Given the description of an element on the screen output the (x, y) to click on. 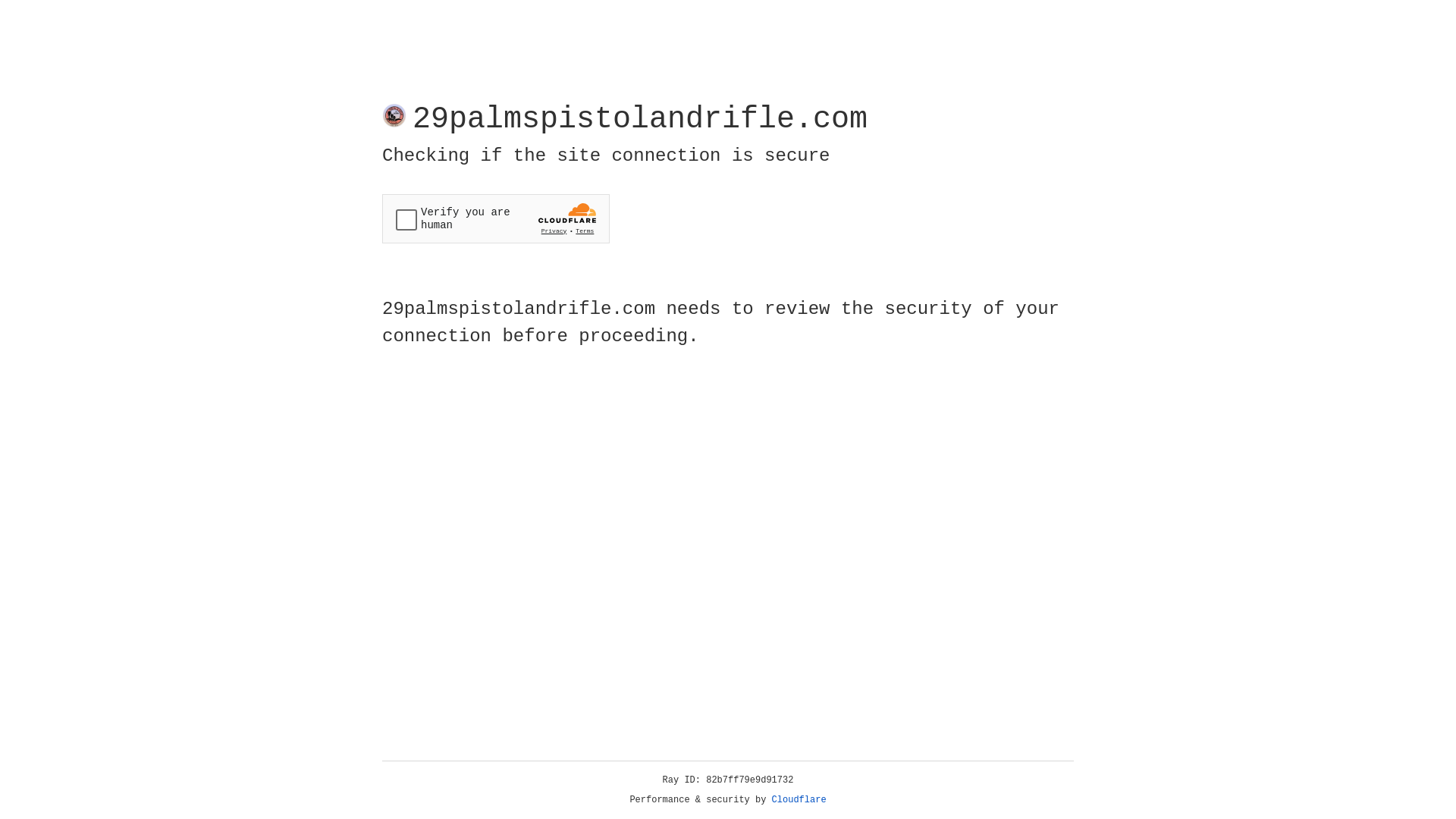
Widget containing a Cloudflare security challenge Element type: hover (495, 218)
Cloudflare Element type: text (798, 799)
